Given the description of an element on the screen output the (x, y) to click on. 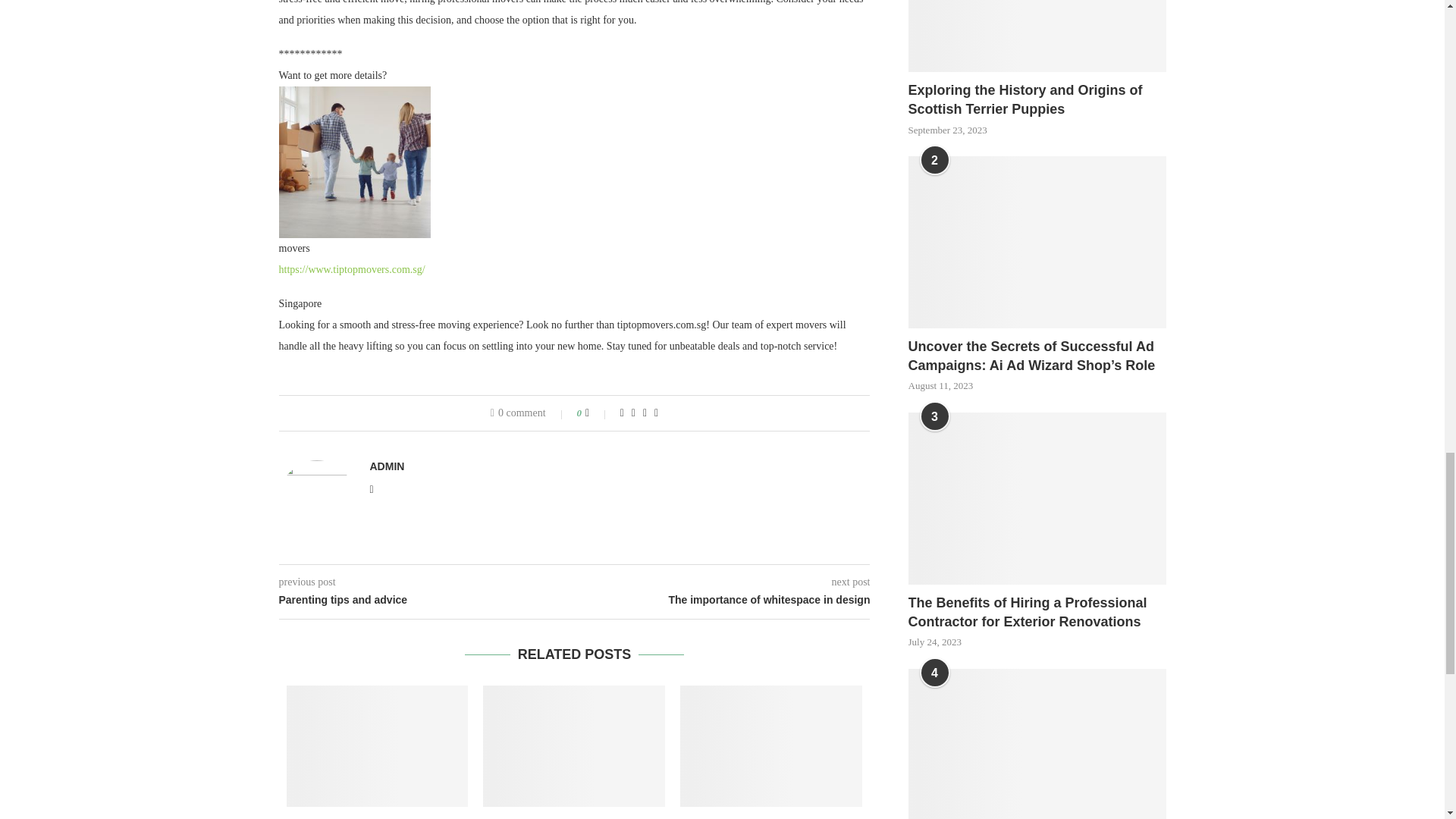
ADMIN (386, 466)
The importance of whitespace in design (722, 600)
The Benefits of Implementing Flexible Working Arrangements (574, 745)
Dreaming as a Form of Therapy (770, 745)
Like (597, 413)
Parenting tips and advice (427, 600)
Essential Tips for Planning a Successful Fundraiser (377, 745)
Author admin (386, 466)
